Given the description of an element on the screen output the (x, y) to click on. 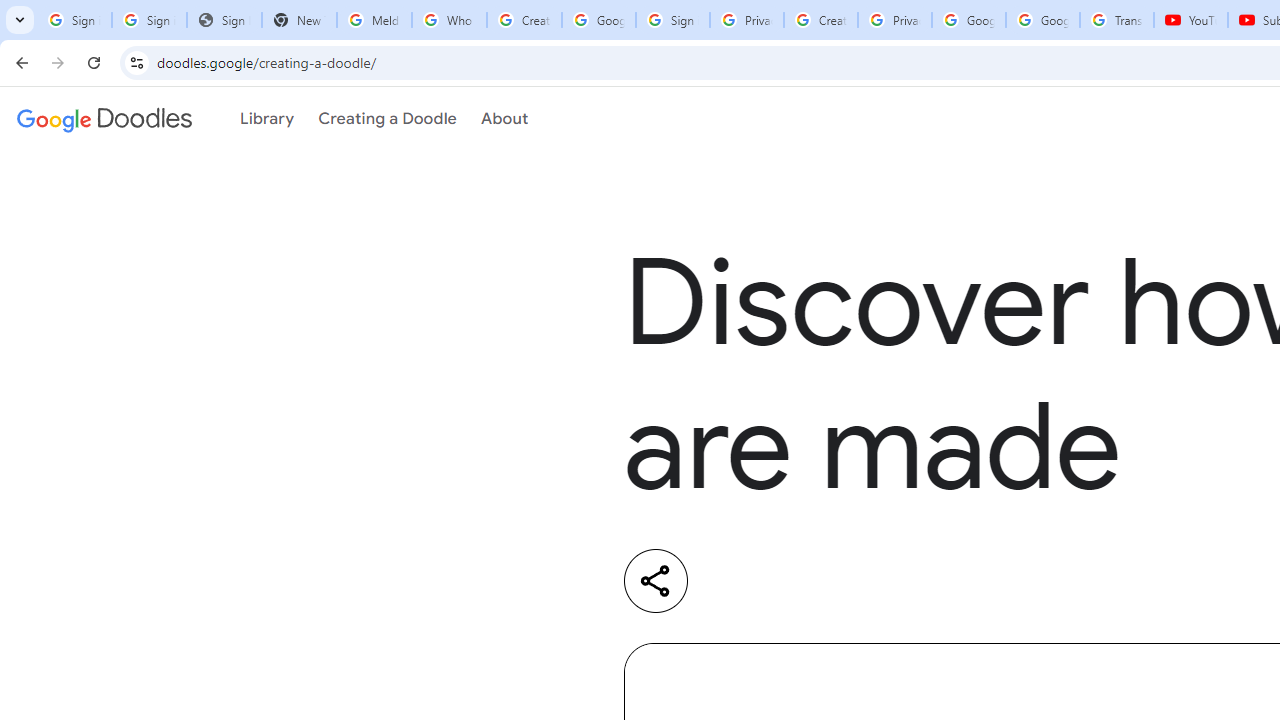
Create your Google Account (820, 20)
